Given the description of an element on the screen output the (x, y) to click on. 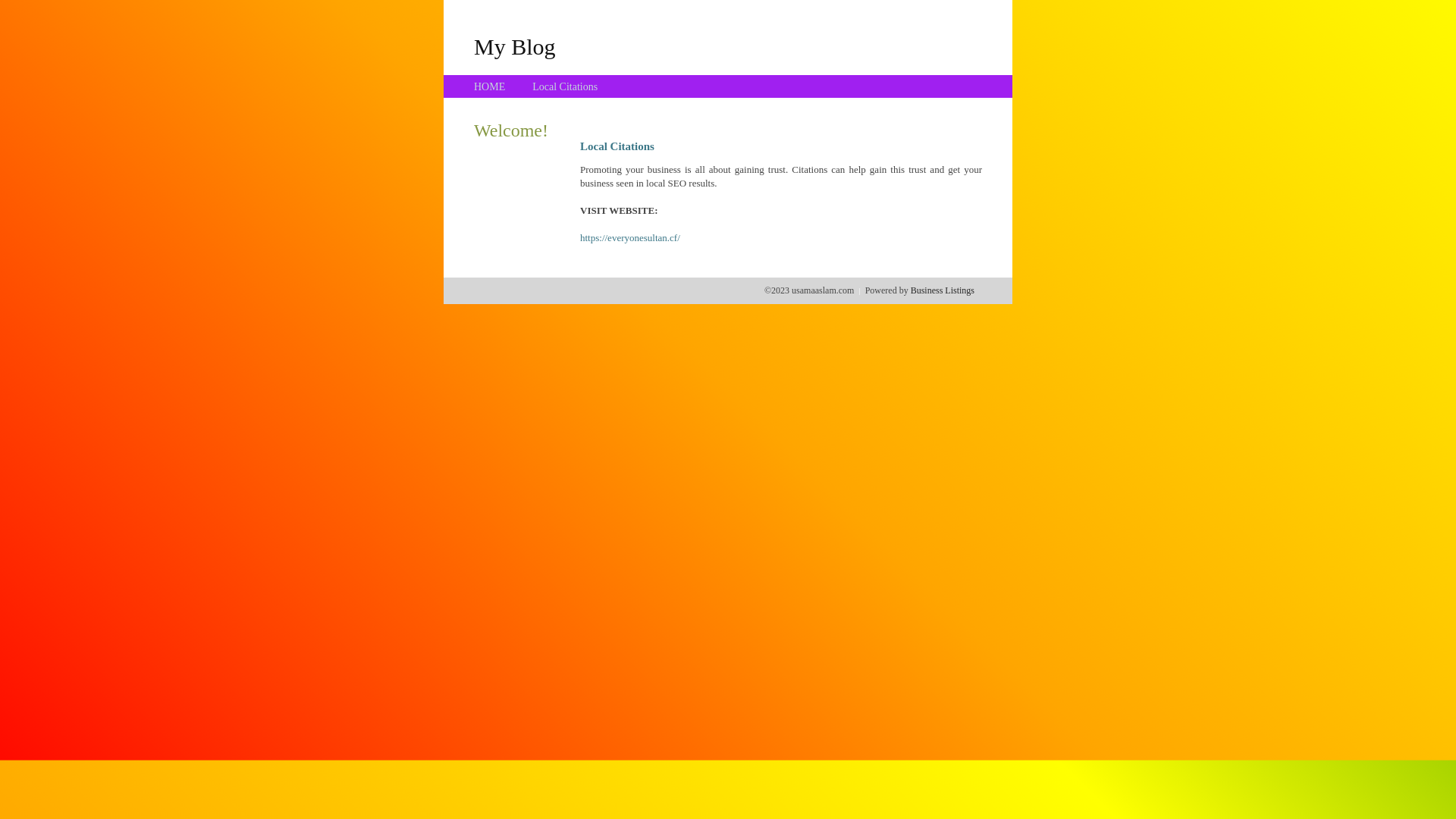
Business Listings Element type: text (942, 290)
My Blog Element type: text (514, 46)
HOME Element type: text (489, 86)
https://everyonesultan.cf/ Element type: text (630, 237)
Local Citations Element type: text (564, 86)
